Given the description of an element on the screen output the (x, y) to click on. 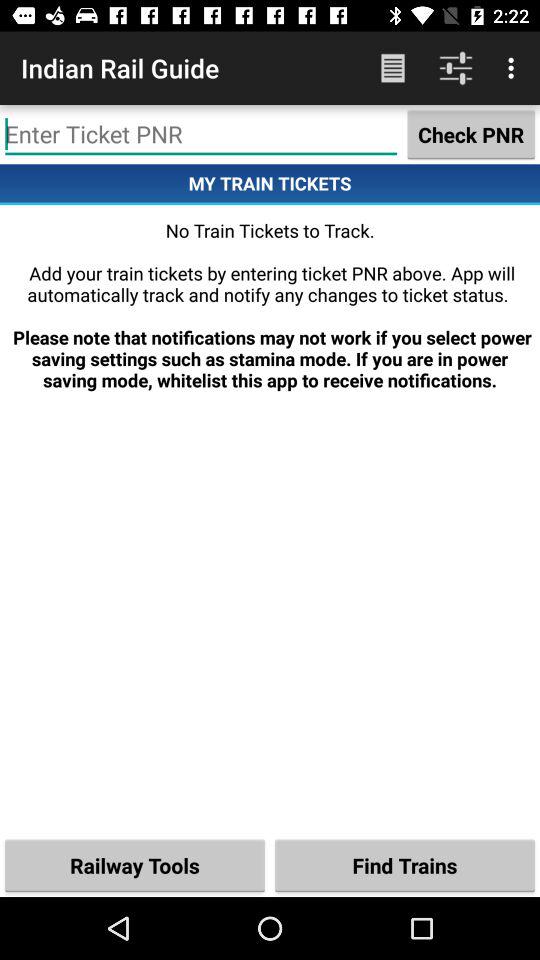
click the item below no train tickets (405, 864)
